Given the description of an element on the screen output the (x, y) to click on. 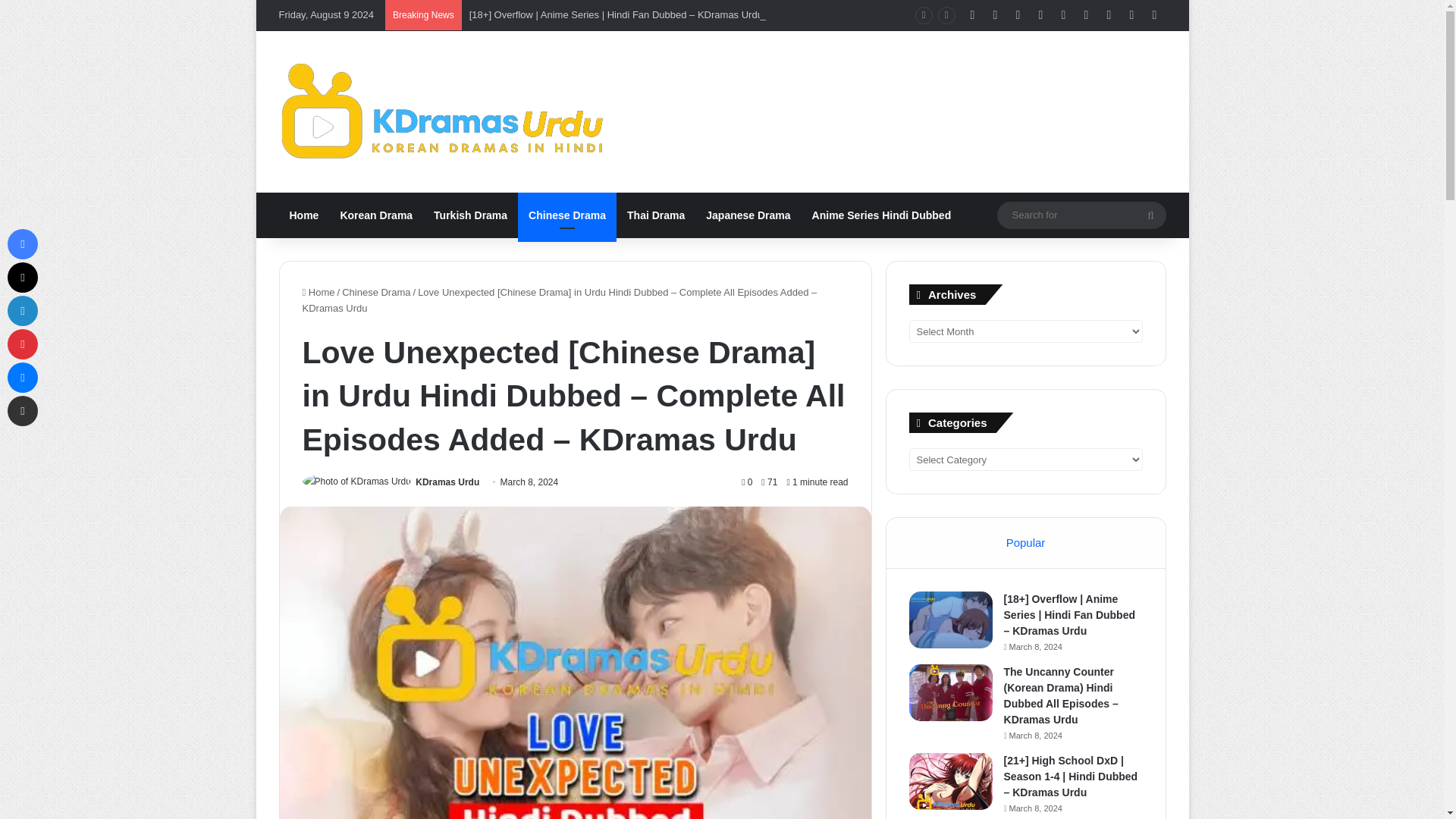
Korean Drama (376, 215)
KDramas Urdu (446, 481)
Home (317, 292)
Facebook (22, 244)
Chinese Drama (566, 215)
Japanese Drama (747, 215)
KDramas Urdu (446, 481)
Home (304, 215)
Search for (1080, 214)
Turkish Drama (470, 215)
